Given the description of an element on the screen output the (x, y) to click on. 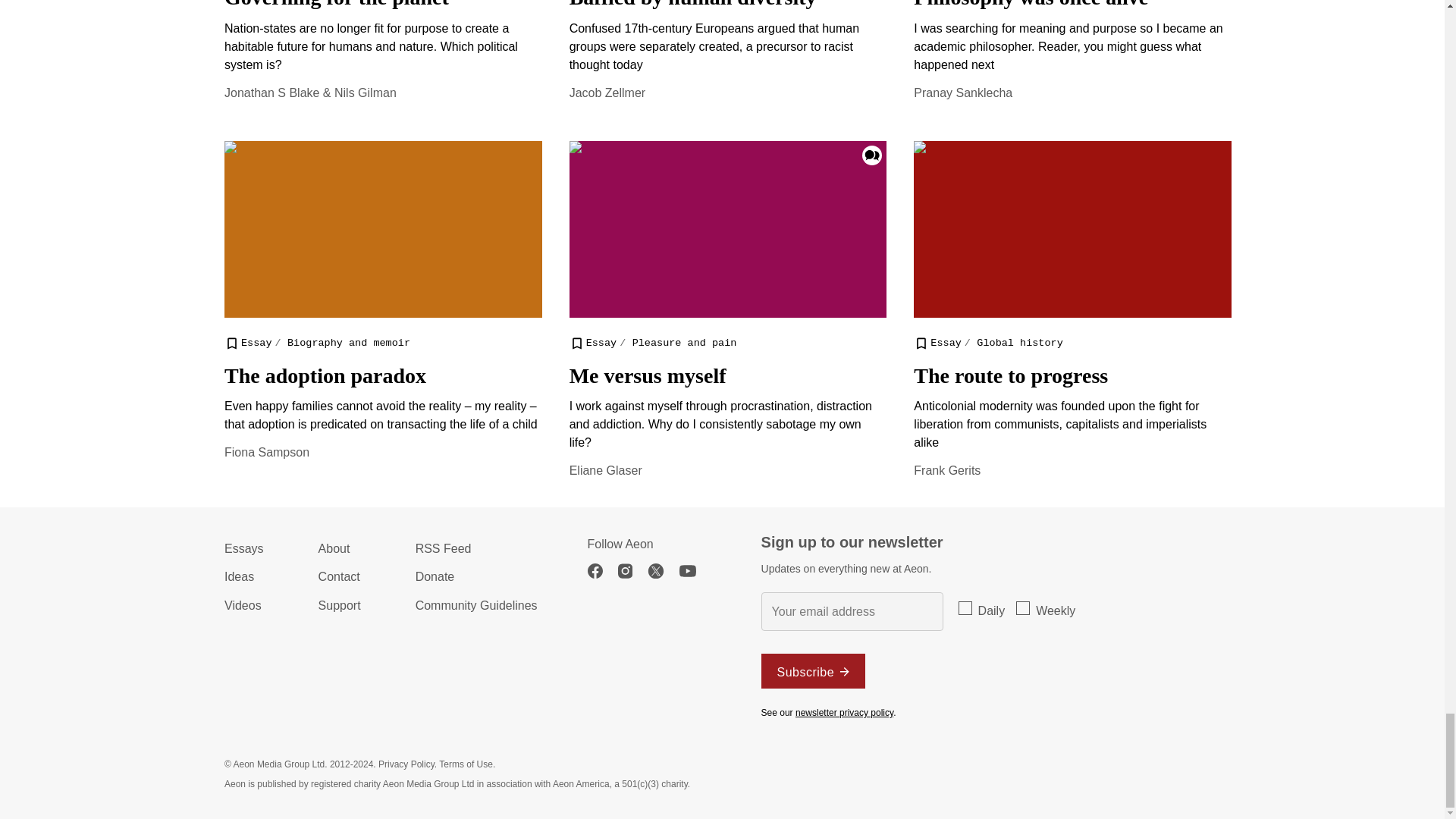
YouTube (695, 570)
Facebook (602, 570)
Instagram (632, 570)
